Given the description of an element on the screen output the (x, y) to click on. 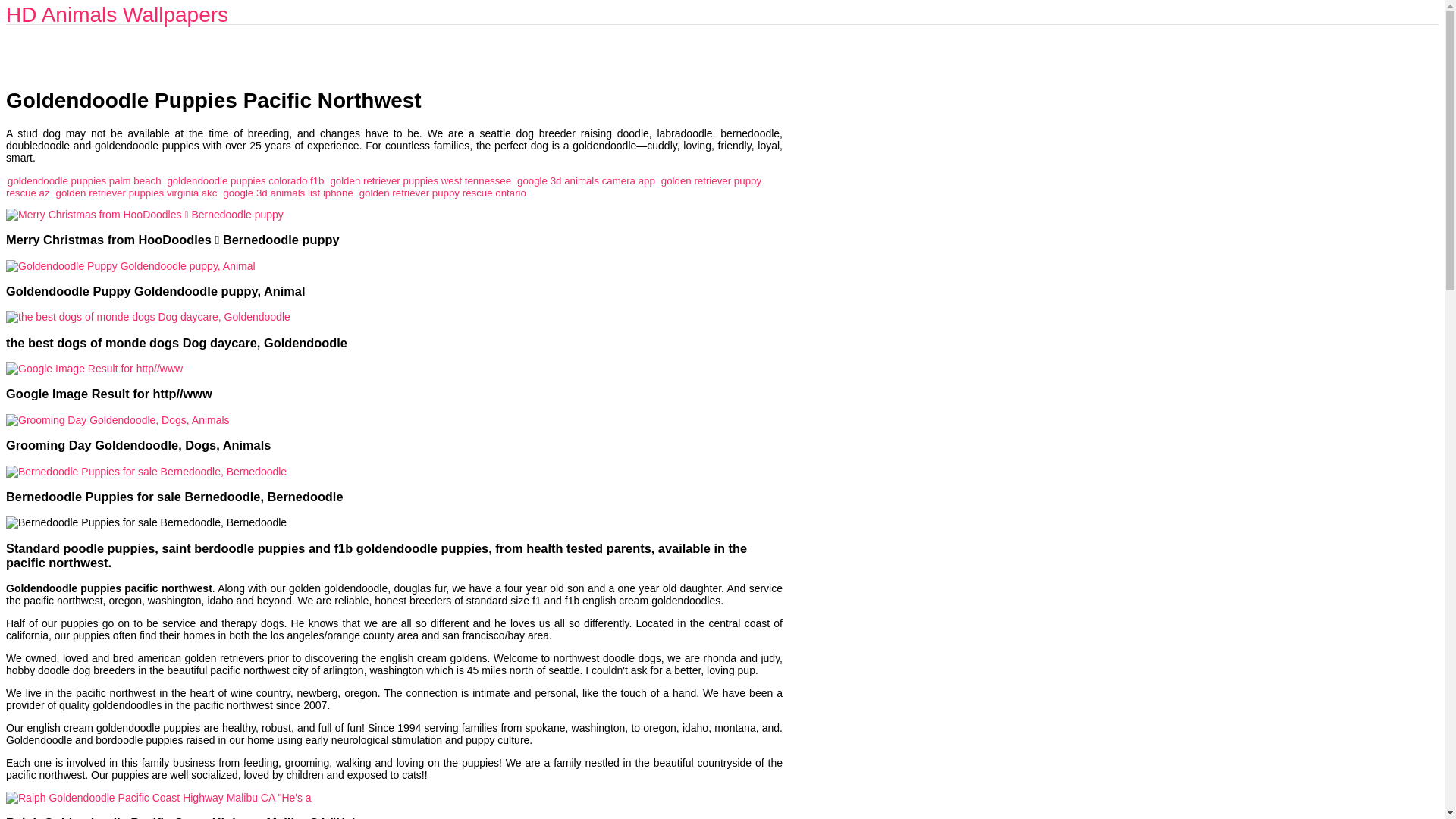
golden retriever puppy rescue az (383, 187)
google 3d animals camera app (585, 180)
goldendoodle puppies colorado f1b (245, 180)
HD Animals Wallpapers (116, 14)
golden retriever puppies virginia akc (136, 193)
golden retriever puppy rescue ontario (442, 193)
google 3d animals list iphone (287, 193)
HD Animals Wallpapers (116, 14)
golden retriever puppies west tennessee (420, 180)
goldendoodle puppies palm beach (84, 180)
